Given the description of an element on the screen output the (x, y) to click on. 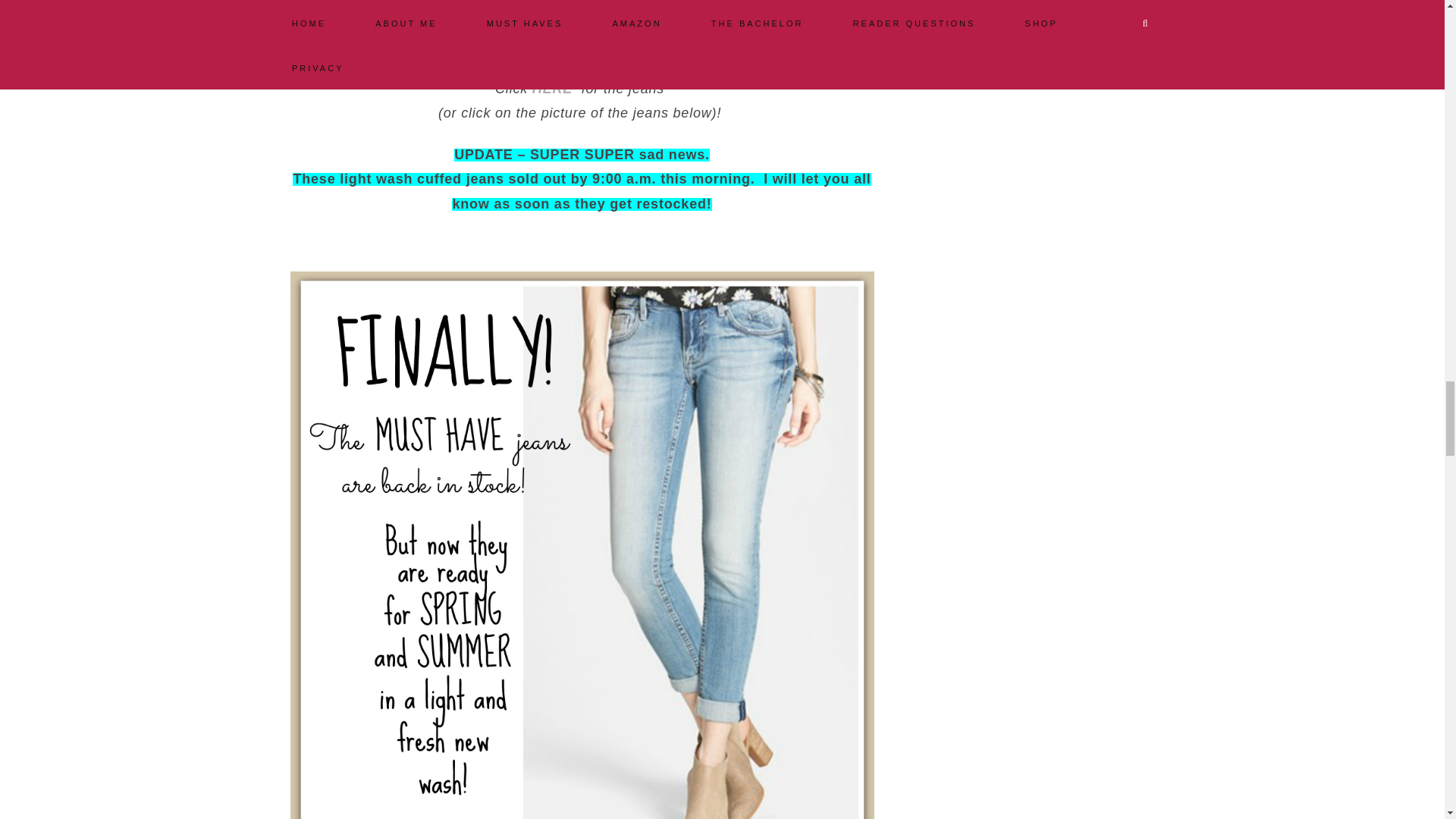
LIGHTER WASH (696, 64)
HERE  (554, 88)
